Given the description of an element on the screen output the (x, y) to click on. 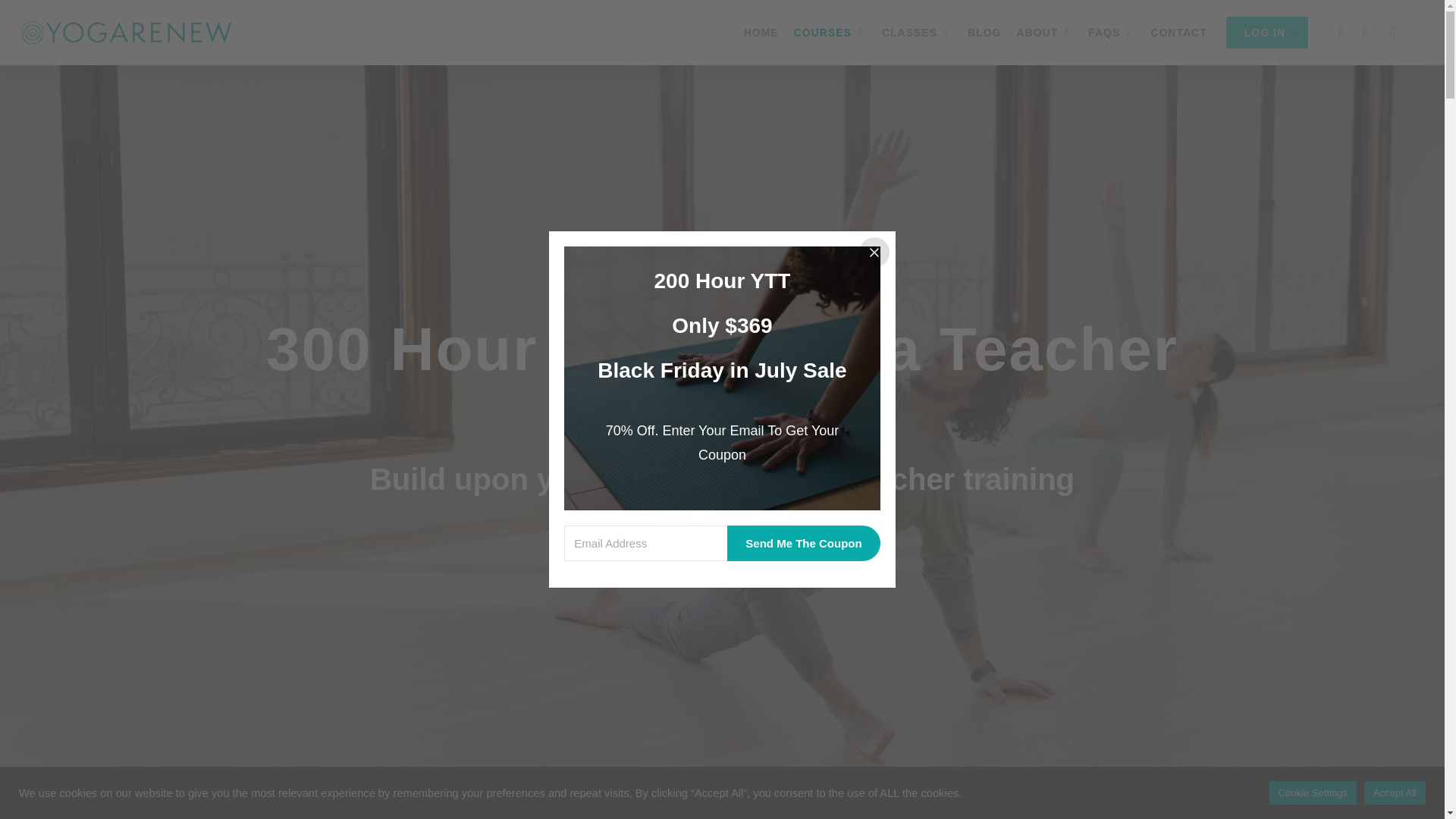
CONTACT (1178, 32)
HOME (761, 32)
FACEBOOK (1341, 32)
ABOUT (1044, 32)
LOG IN (1266, 32)
FAQS (1111, 32)
INSTAGRAM (1392, 32)
COURSES (830, 32)
BLOG (984, 32)
CLASSES (917, 32)
YOUTUBE (1365, 32)
